Given the description of an element on the screen output the (x, y) to click on. 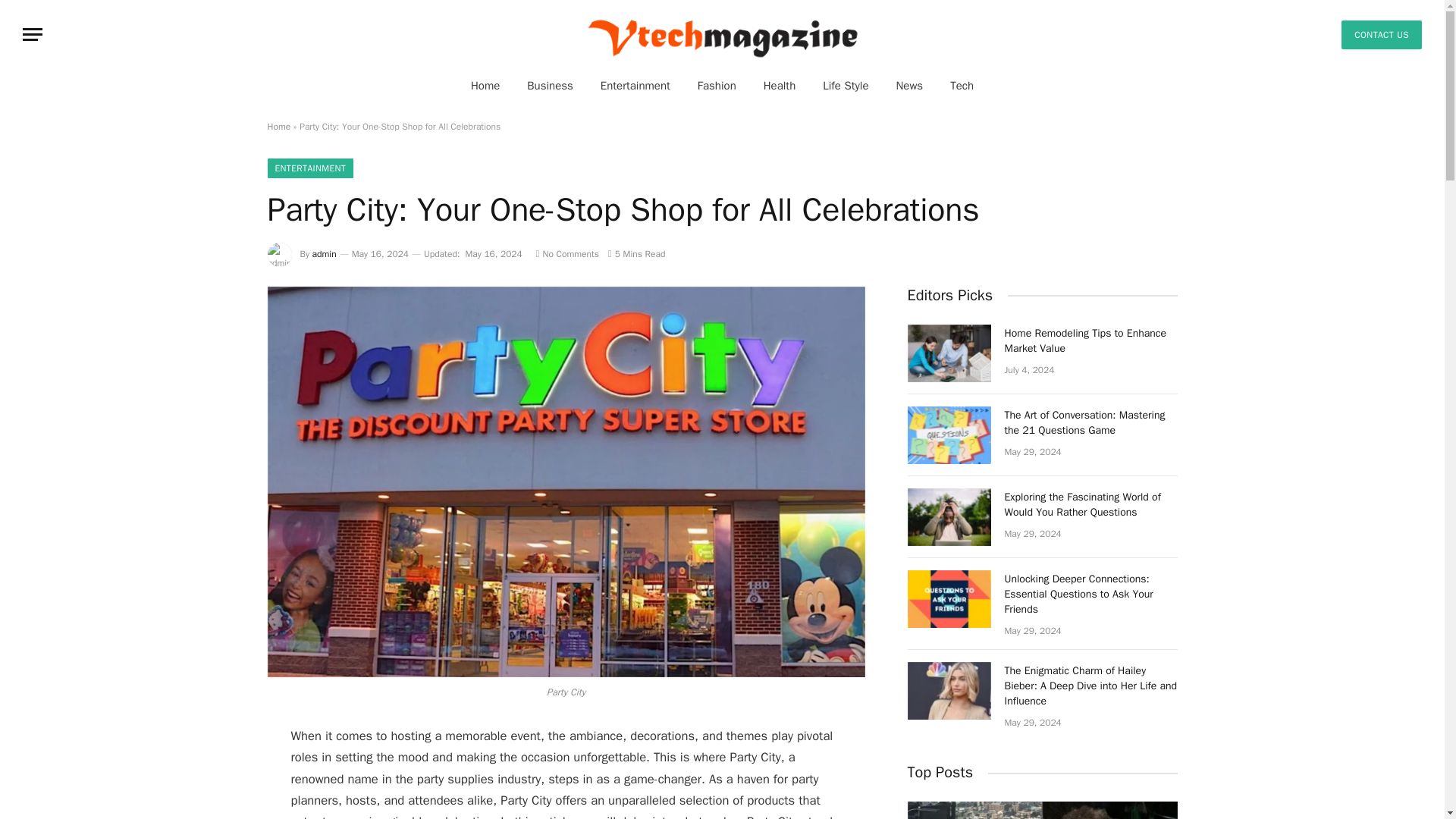
Life Style (845, 85)
Entertainment (635, 85)
Home (485, 85)
Health (779, 85)
vtechmagazine (721, 34)
No Comments (566, 254)
CONTACT US (1381, 33)
admin (324, 254)
Tech (961, 85)
